Given the description of an element on the screen output the (x, y) to click on. 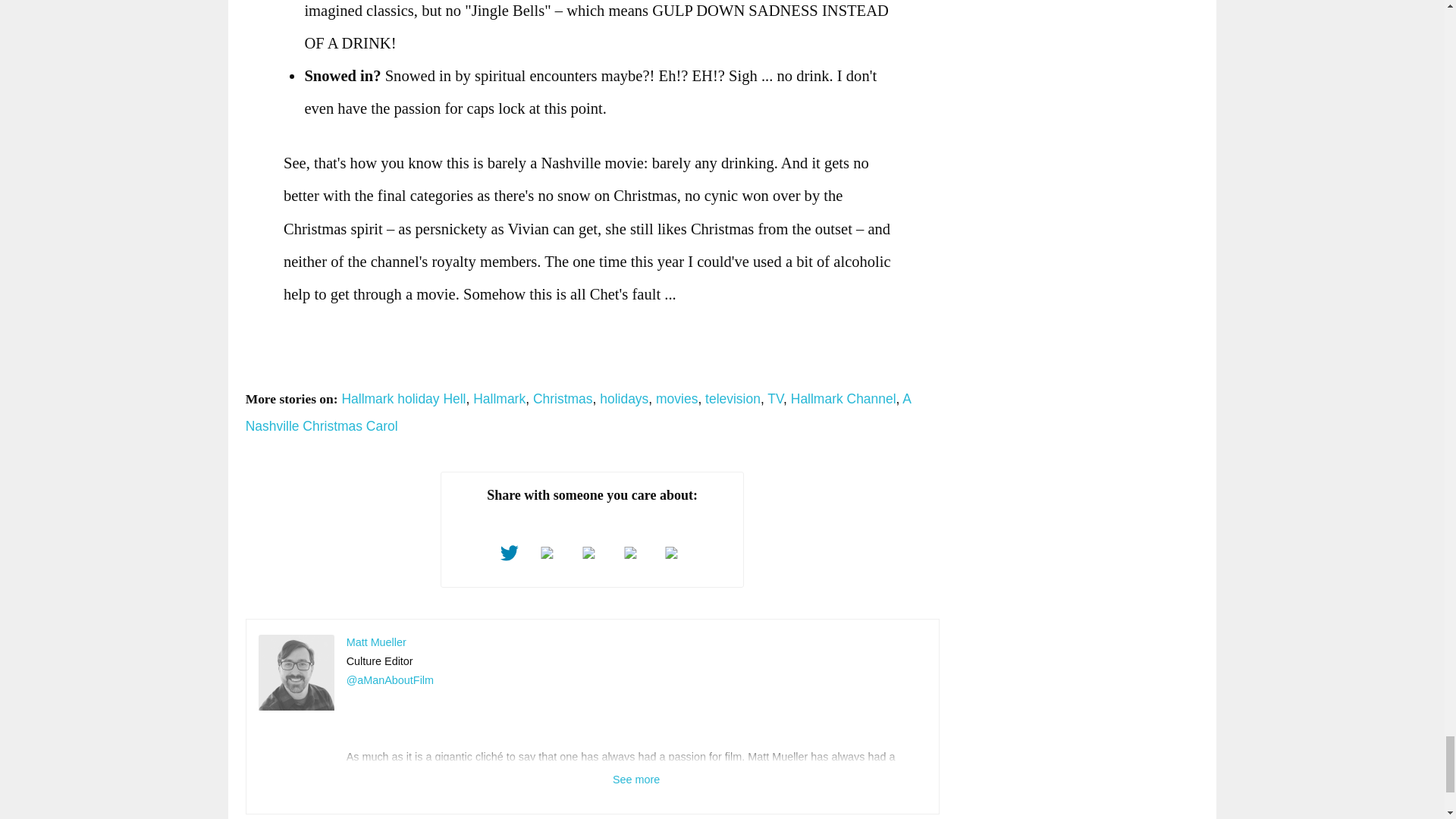
television (732, 398)
Matt Mueller (296, 672)
More articles by Matt Mueller (376, 642)
Hallmark holiday Hell (402, 398)
TV (775, 398)
Christmas (562, 398)
holidays (623, 398)
Hallmark (499, 398)
A Nashville Christmas Carol (578, 412)
movies (676, 398)
